Given the description of an element on the screen output the (x, y) to click on. 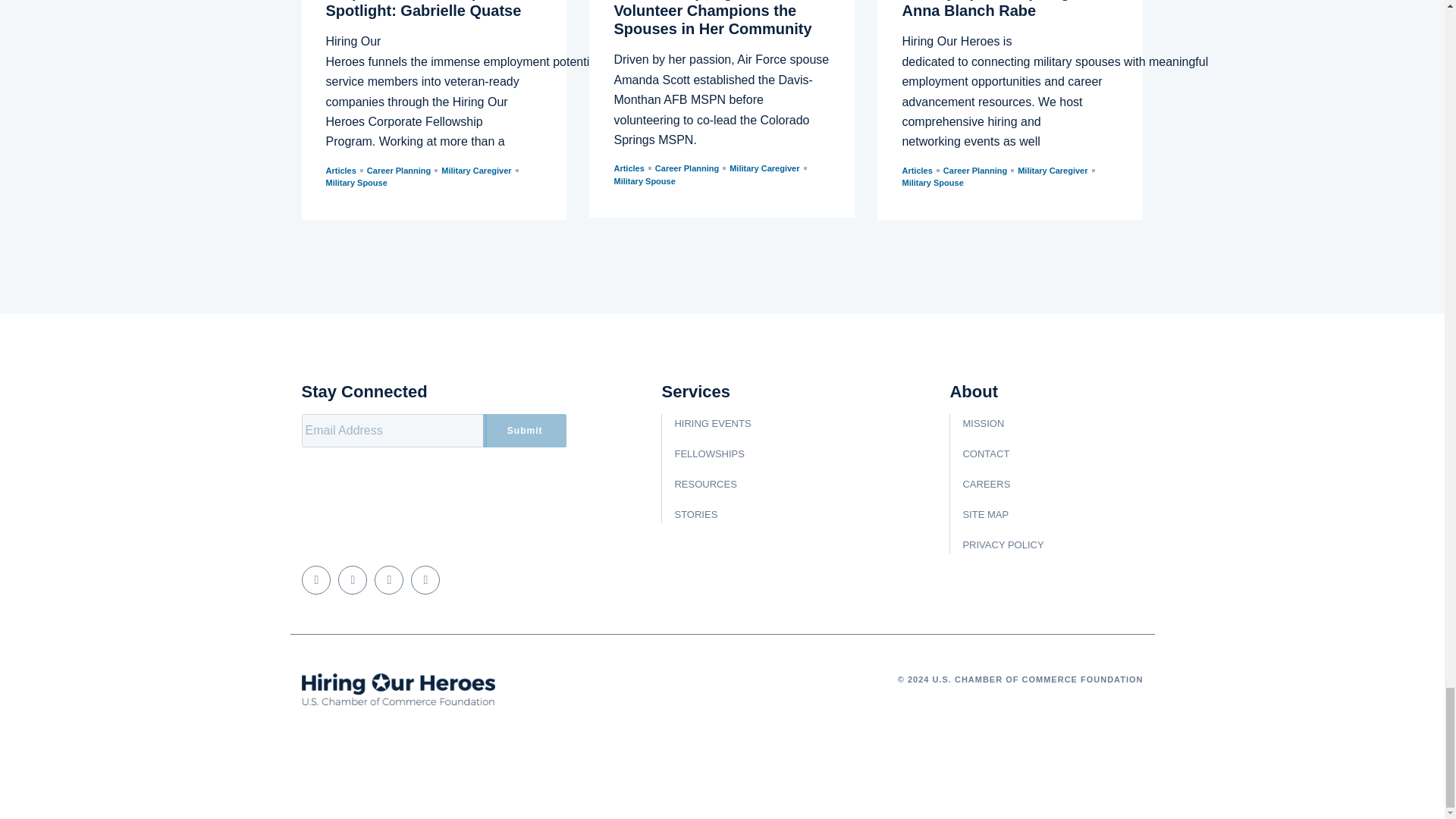
Submit (525, 430)
